Given the description of an element on the screen output the (x, y) to click on. 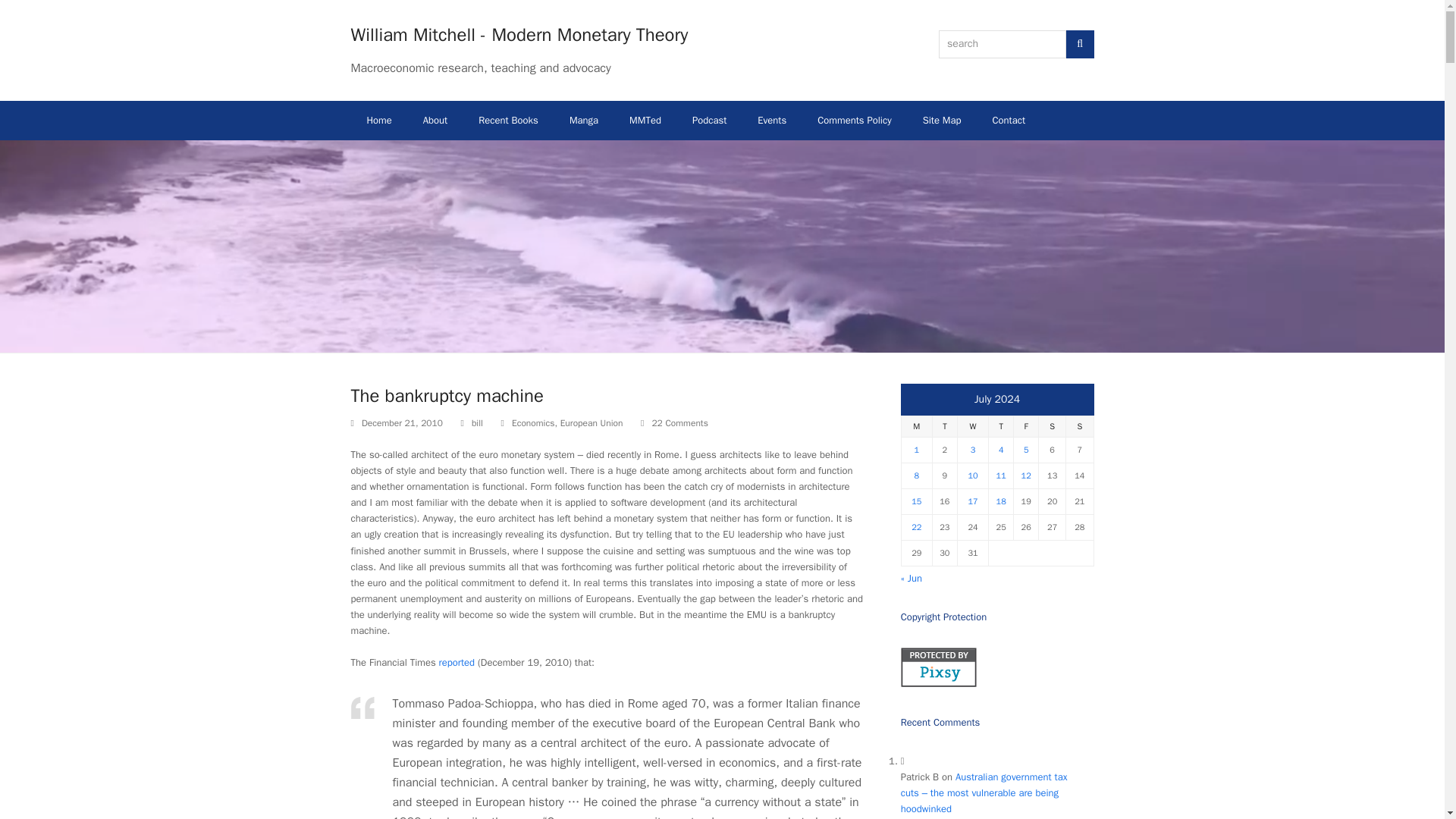
Manga (583, 120)
Recent Books (508, 120)
Posts by bill (477, 422)
Home (379, 120)
Site Map (941, 120)
Tuesday (943, 426)
About (435, 120)
22 Comments (673, 423)
22 Comments (678, 423)
MMTed (645, 120)
Search (1079, 44)
Events (772, 120)
reported (457, 662)
Economics (533, 422)
Podcast (709, 120)
